Given the description of an element on the screen output the (x, y) to click on. 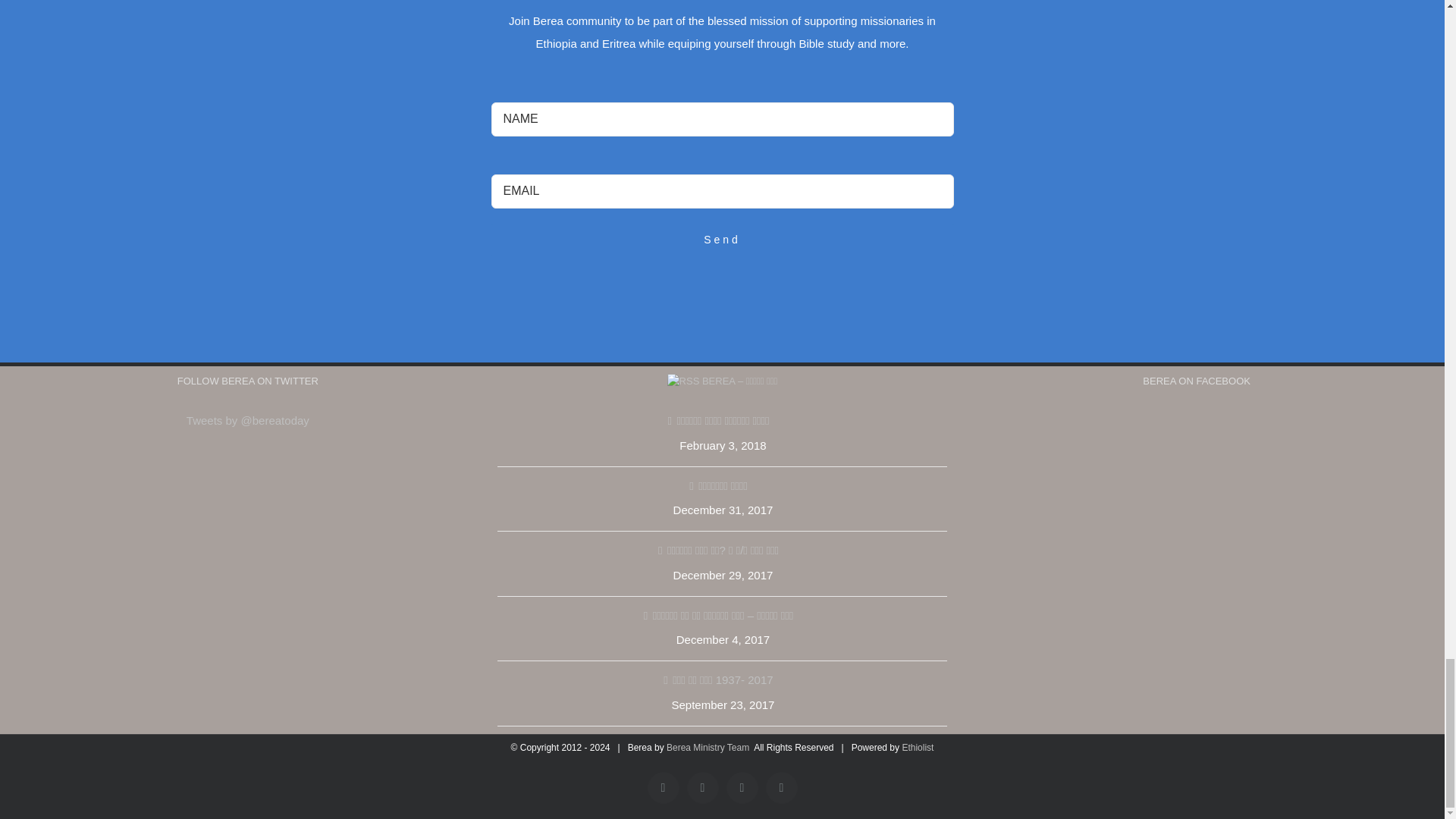
YouTube (663, 787)
Send (722, 239)
Twitter (703, 787)
Facebook (781, 787)
Rss (742, 787)
